Given the description of an element on the screen output the (x, y) to click on. 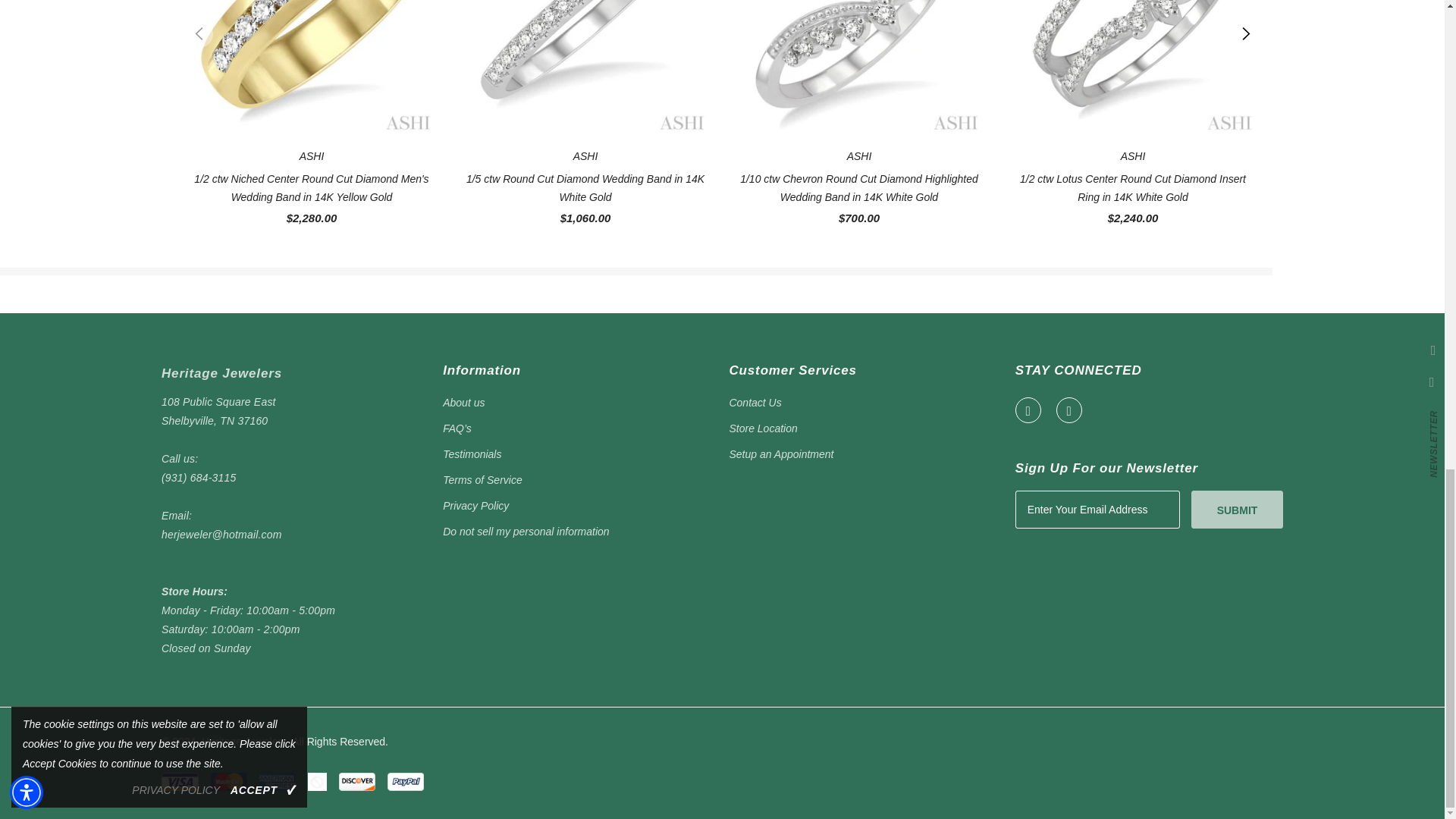
Submit (1236, 508)
